Given the description of an element on the screen output the (x, y) to click on. 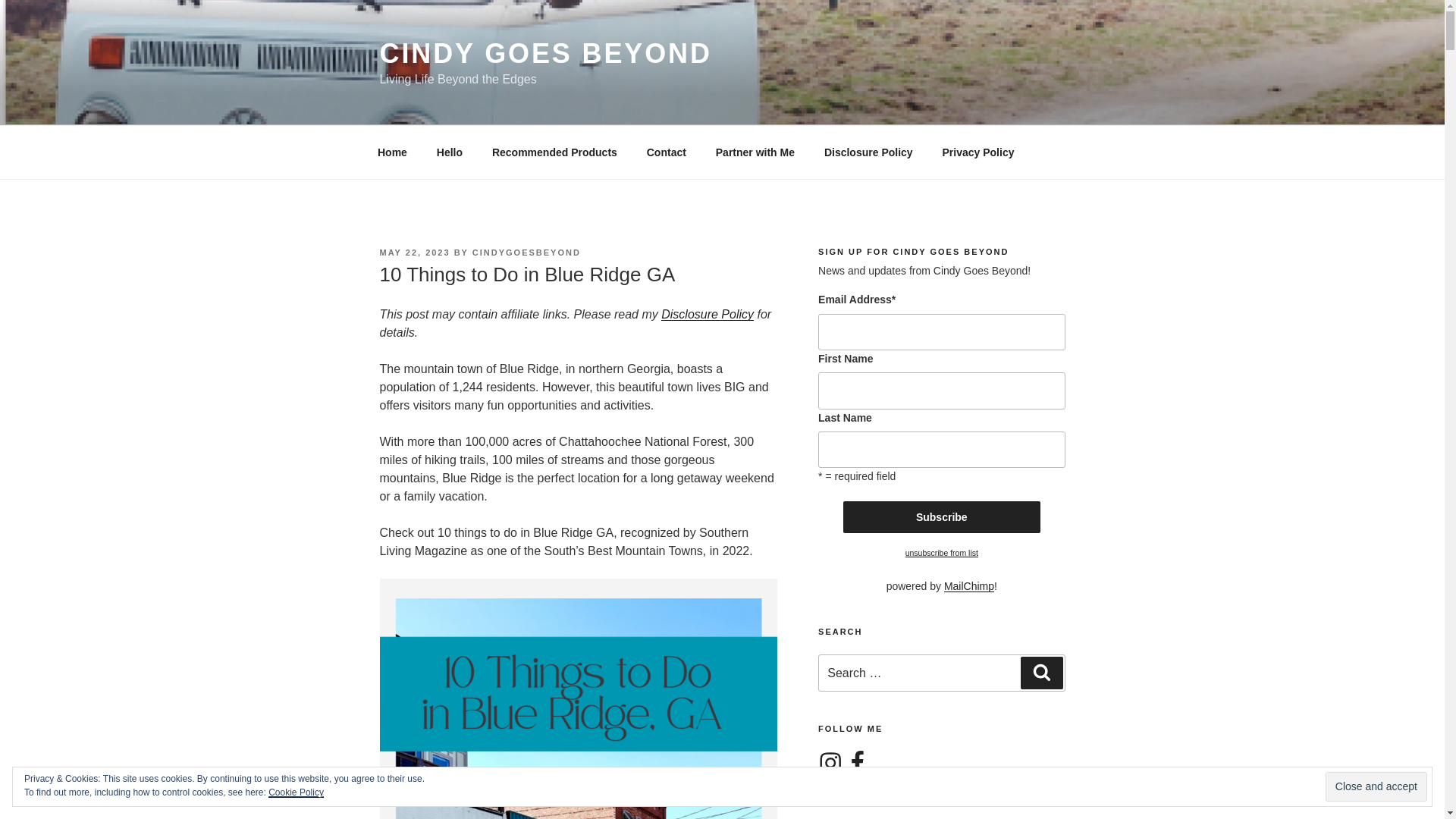
Home (392, 151)
Disclosure Policy (868, 151)
MAY 22, 2023 (413, 252)
Subscribe (942, 517)
Hello (449, 151)
Close and accept (1375, 786)
CINDYGOESBEYOND (525, 252)
CINDY GOES BEYOND (544, 52)
Partner with Me (754, 151)
Contact (665, 151)
Privacy Policy (977, 151)
Recommended Products (554, 151)
Disclosure Policy (707, 314)
